Given the description of an element on the screen output the (x, y) to click on. 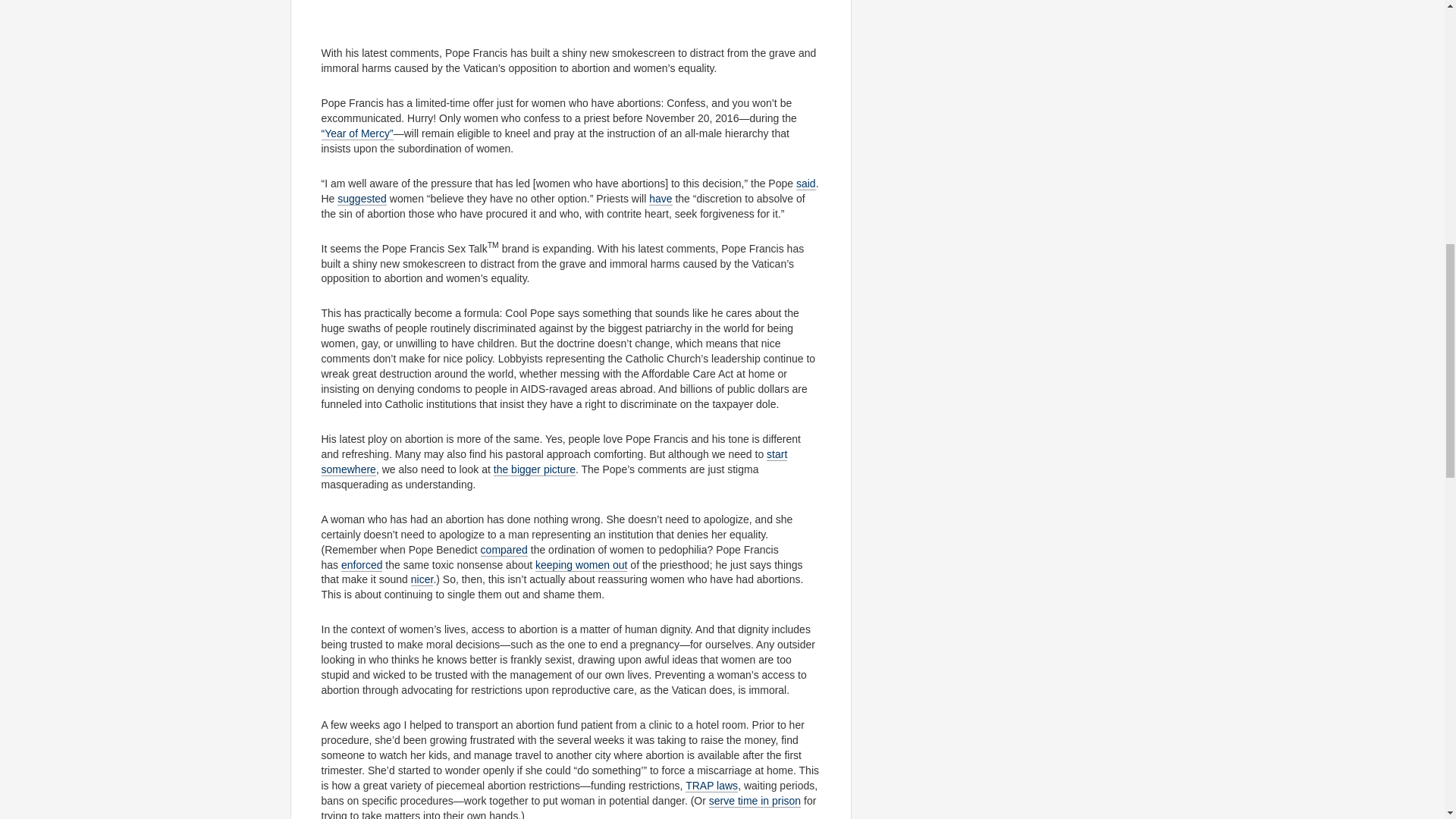
TRAP laws (711, 785)
enforced (360, 563)
the bigger picture (534, 469)
suggested (362, 198)
said (805, 183)
compared (503, 549)
nicer (421, 579)
start somewhere (554, 461)
keeping women out (581, 563)
have (660, 198)
